Given the description of an element on the screen output the (x, y) to click on. 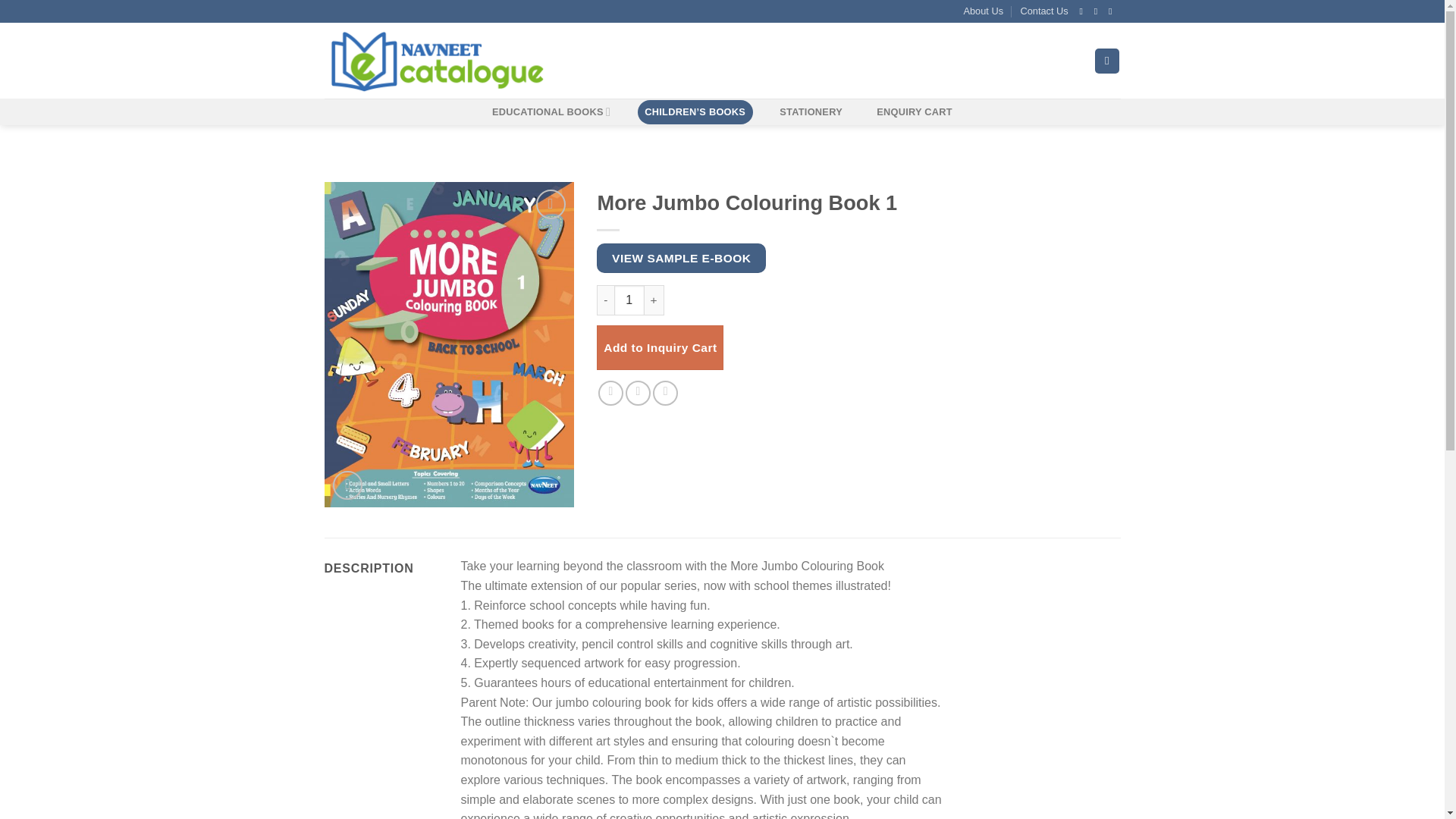
STATIONERY (811, 111)
Email to a Friend (665, 392)
ENQUIRY CART (914, 111)
Share on Facebook (610, 392)
Navneet Education Limited (566, 60)
Zoom (347, 485)
About Us (982, 11)
EDUCATIONAL BOOKS (550, 111)
Contact Us (1043, 11)
Add to Inquiry Cart (659, 347)
Share on Twitter (638, 392)
1 (629, 300)
VIEW SAMPLE E-BOOK (680, 257)
